Given the description of an element on the screen output the (x, y) to click on. 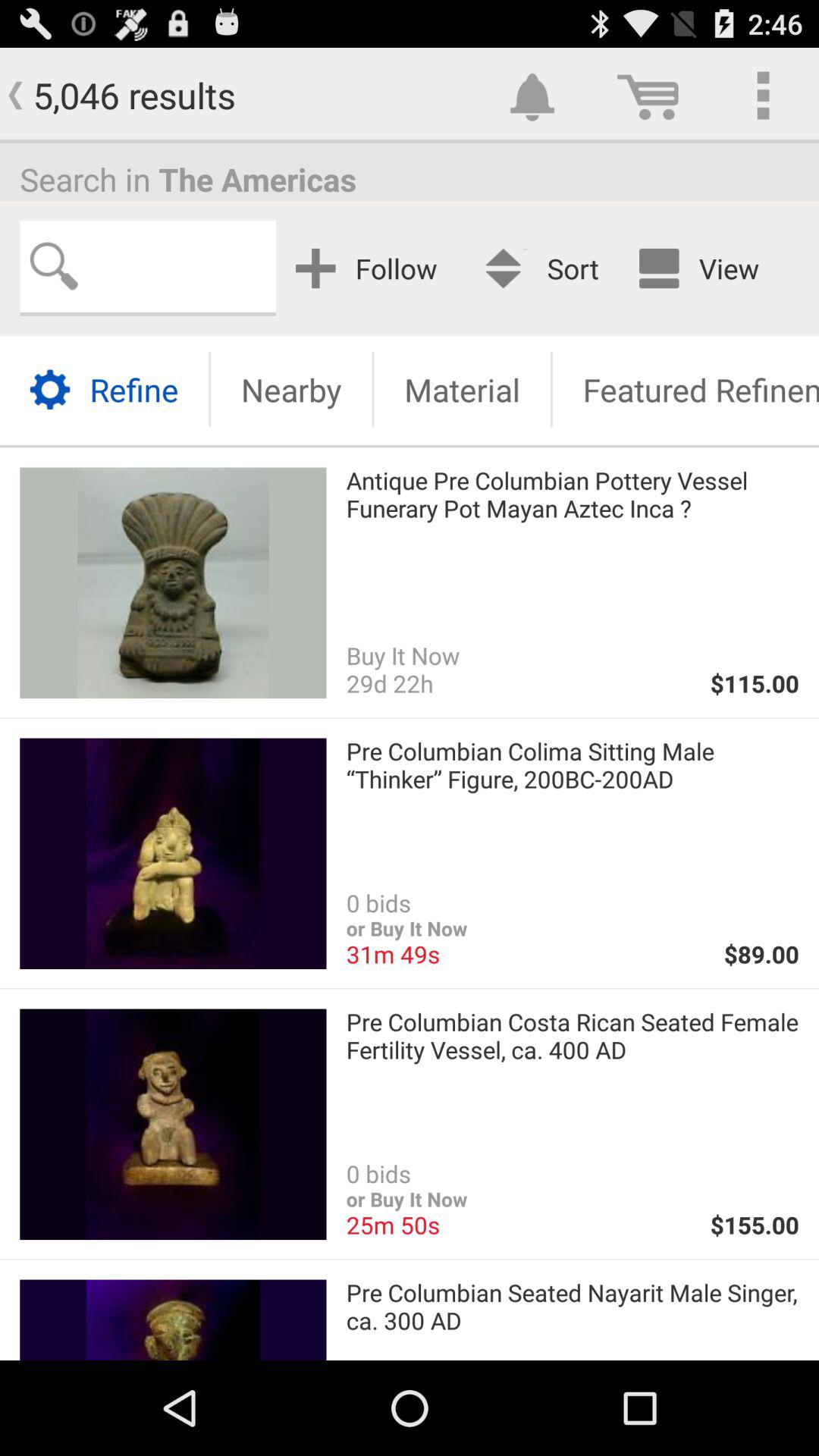
tap app next to the best match app (371, 268)
